Given the description of an element on the screen output the (x, y) to click on. 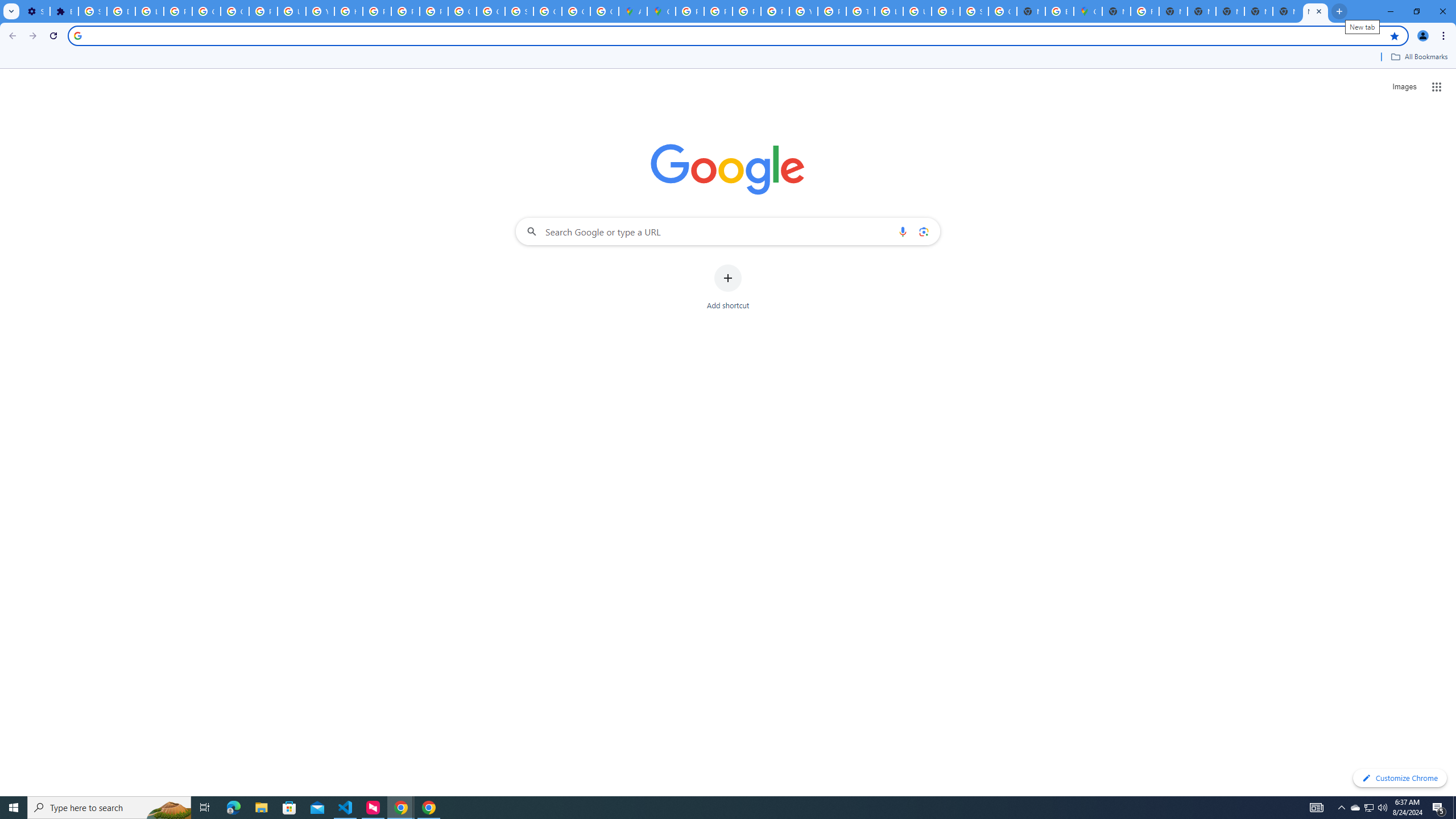
Learn how to find your photos - Google Photos Help (148, 11)
Extensions (63, 11)
Bookmarks (728, 58)
Google Account Help (234, 11)
